Given the description of an element on the screen output the (x, y) to click on. 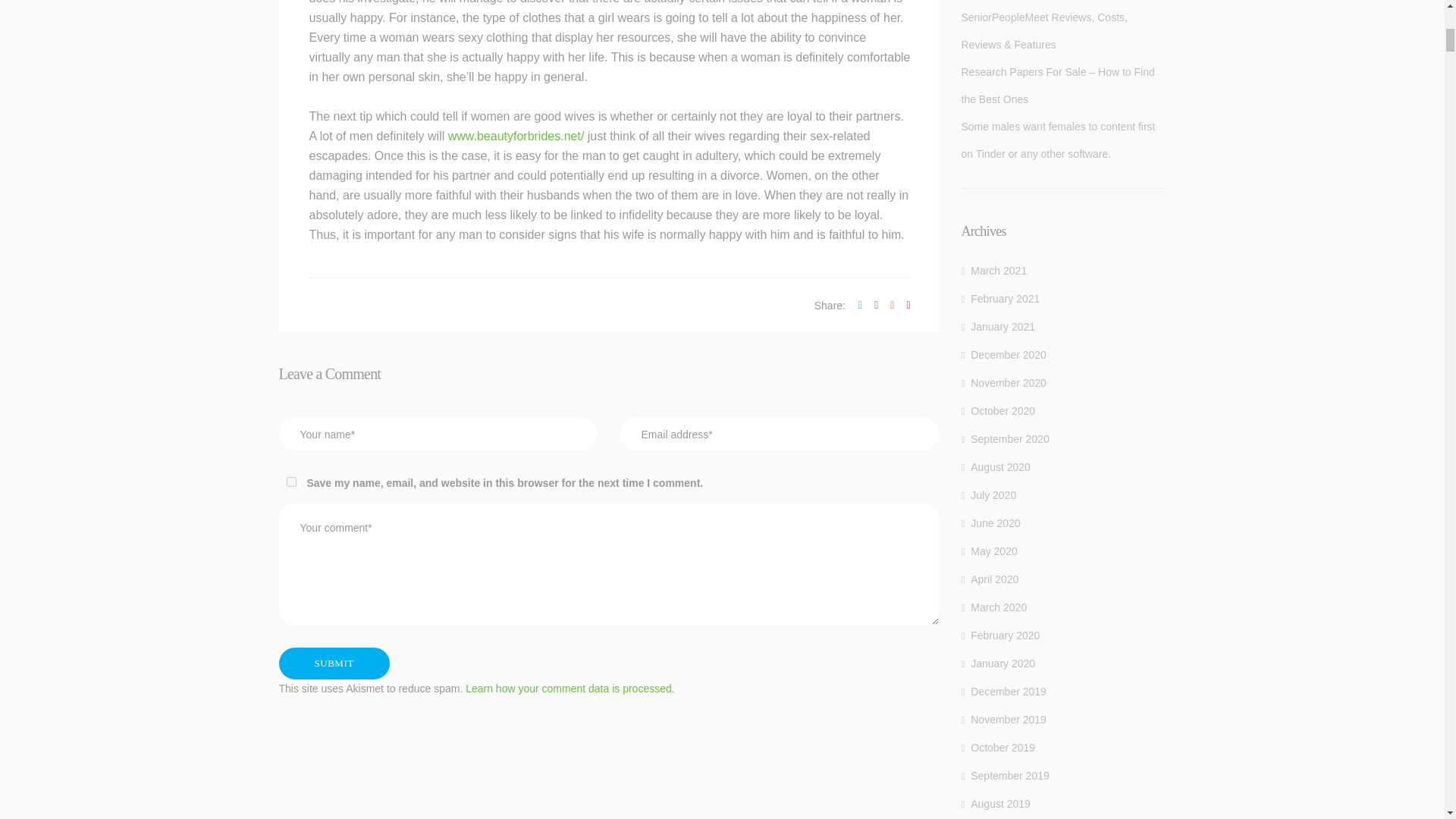
Submit (334, 663)
Learn how your comment data is processed (568, 688)
March 2021 (993, 271)
February 2021 (1000, 298)
Submit (334, 663)
yes (291, 481)
